Given the description of an element on the screen output the (x, y) to click on. 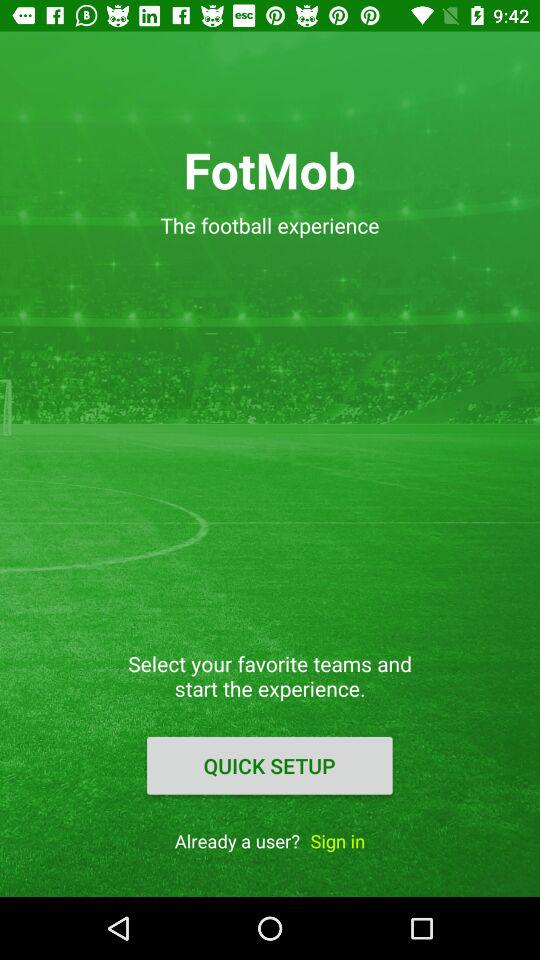
open item below the select your favorite (269, 765)
